Given the description of an element on the screen output the (x, y) to click on. 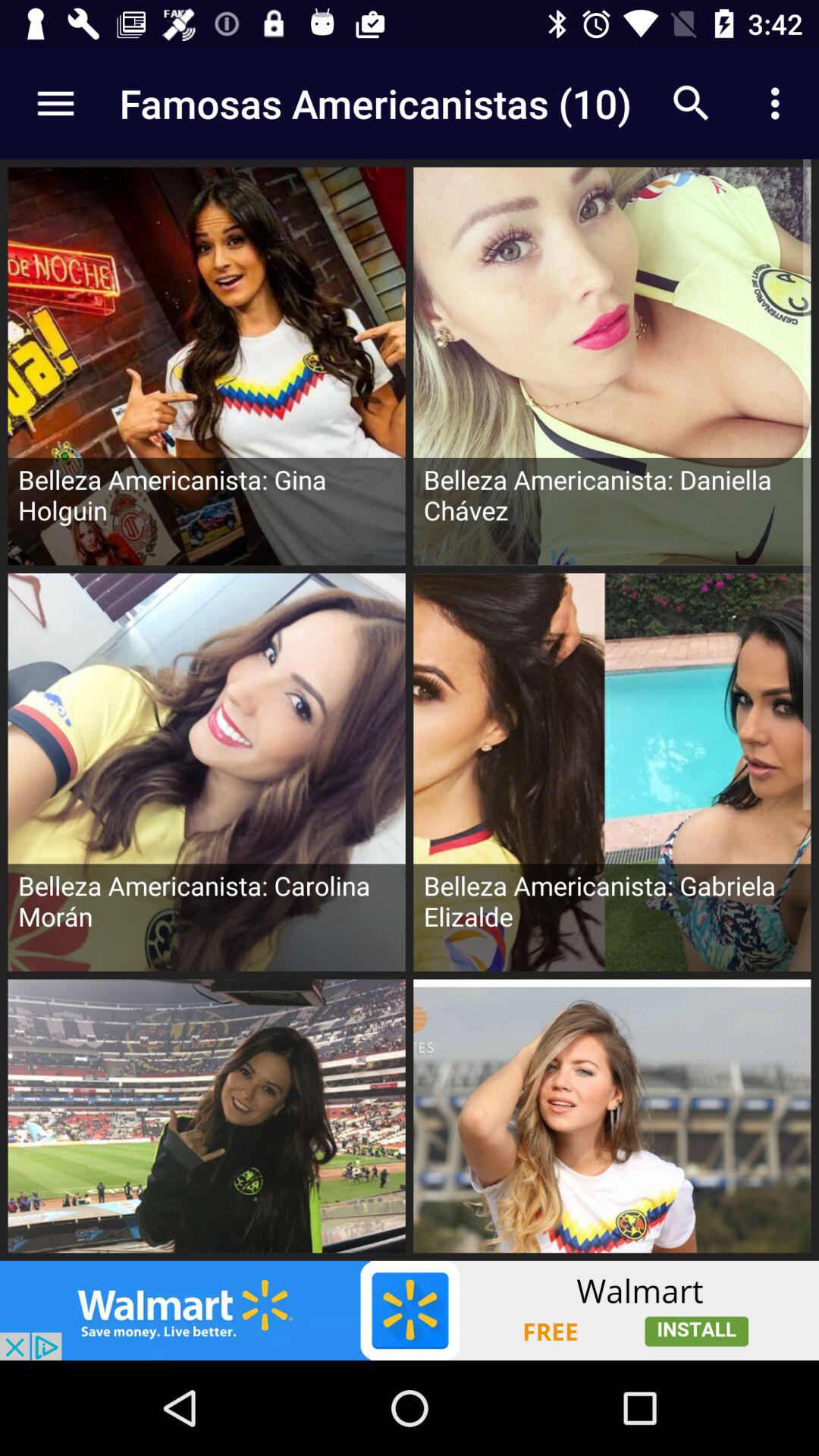
view advertisement (409, 1310)
